Given the description of an element on the screen output the (x, y) to click on. 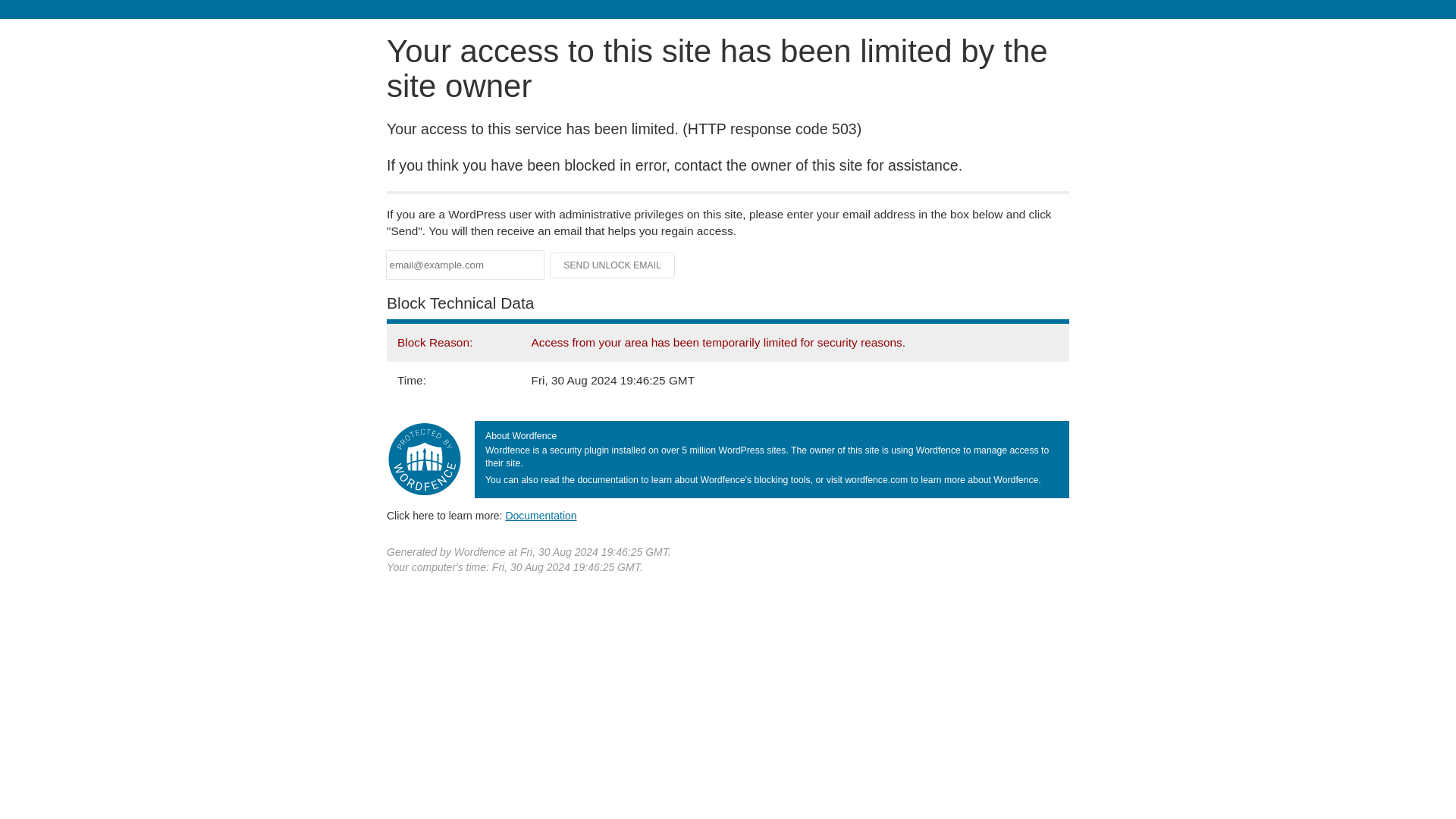
Documentation (540, 515)
Send Unlock Email (612, 265)
Send Unlock Email (612, 265)
